Given the description of an element on the screen output the (x, y) to click on. 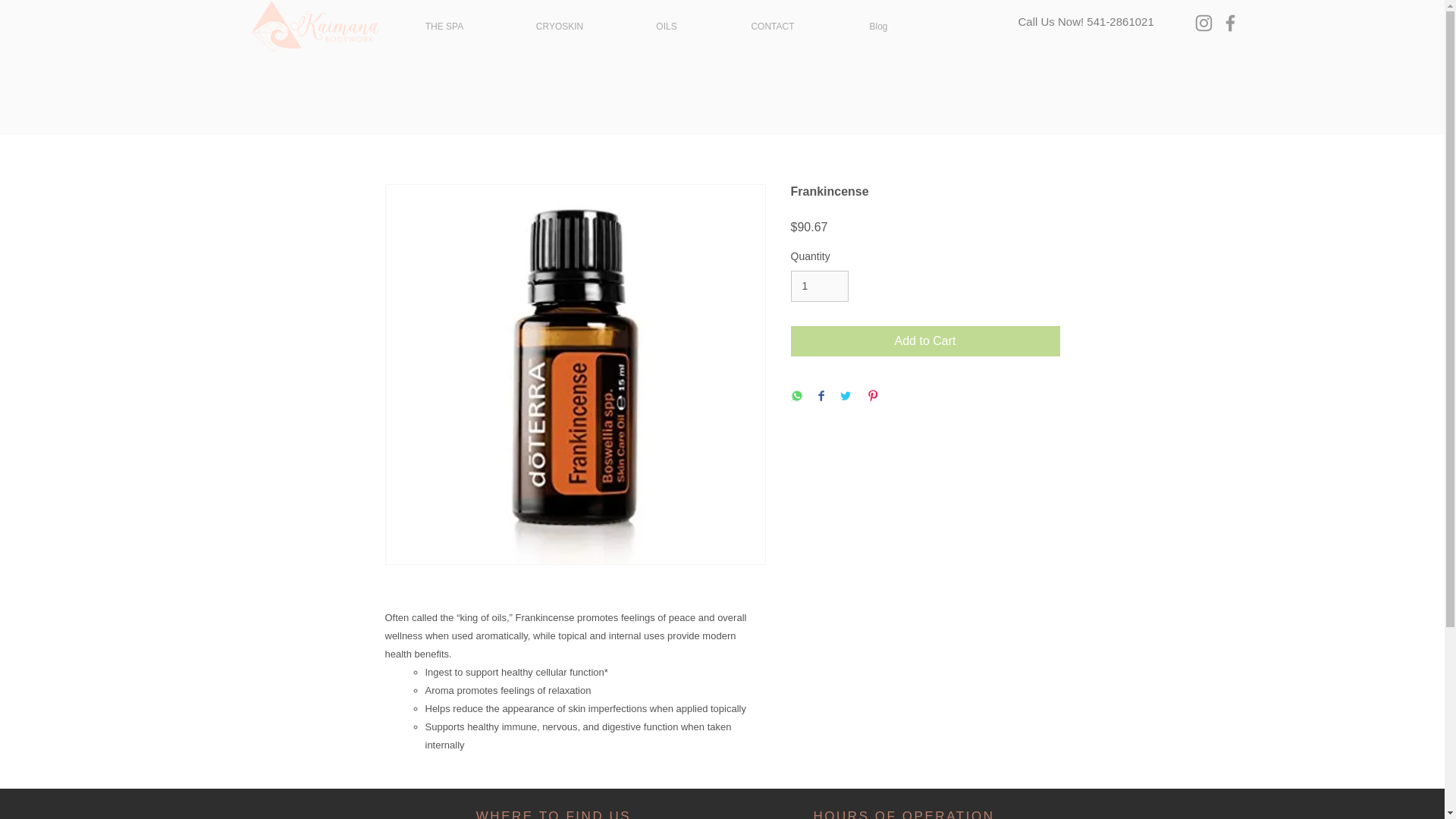
THE SPA (443, 26)
Blog (877, 26)
OILS (665, 26)
Add to Cart (924, 340)
CONTACT (772, 26)
CRYOSKIN (560, 26)
1 (818, 286)
